Given the description of an element on the screen output the (x, y) to click on. 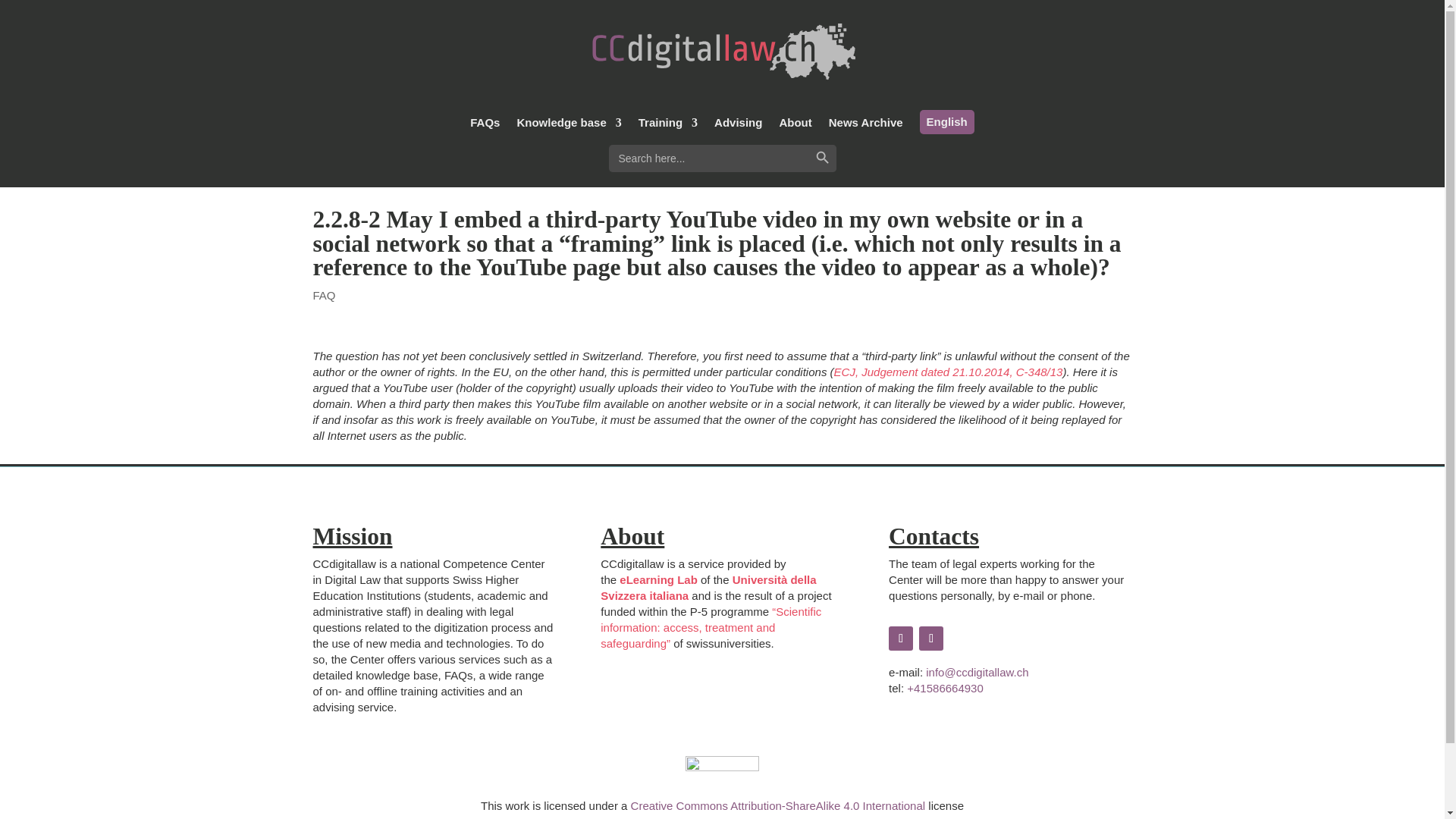
Knowledge base (568, 126)
FAQs (484, 126)
About (794, 126)
English (947, 121)
Training (668, 126)
eLearning Lab (658, 579)
Logo CCDL colori-grigio (722, 51)
Advising (737, 126)
English (947, 121)
Search Button (821, 157)
Follow on LinkedIn (930, 638)
News Archive (865, 126)
Follow on Facebook (900, 638)
FAQ (323, 294)
Creative Commons Attribution-ShareAlike 4.0 International (778, 805)
